Given the description of an element on the screen output the (x, y) to click on. 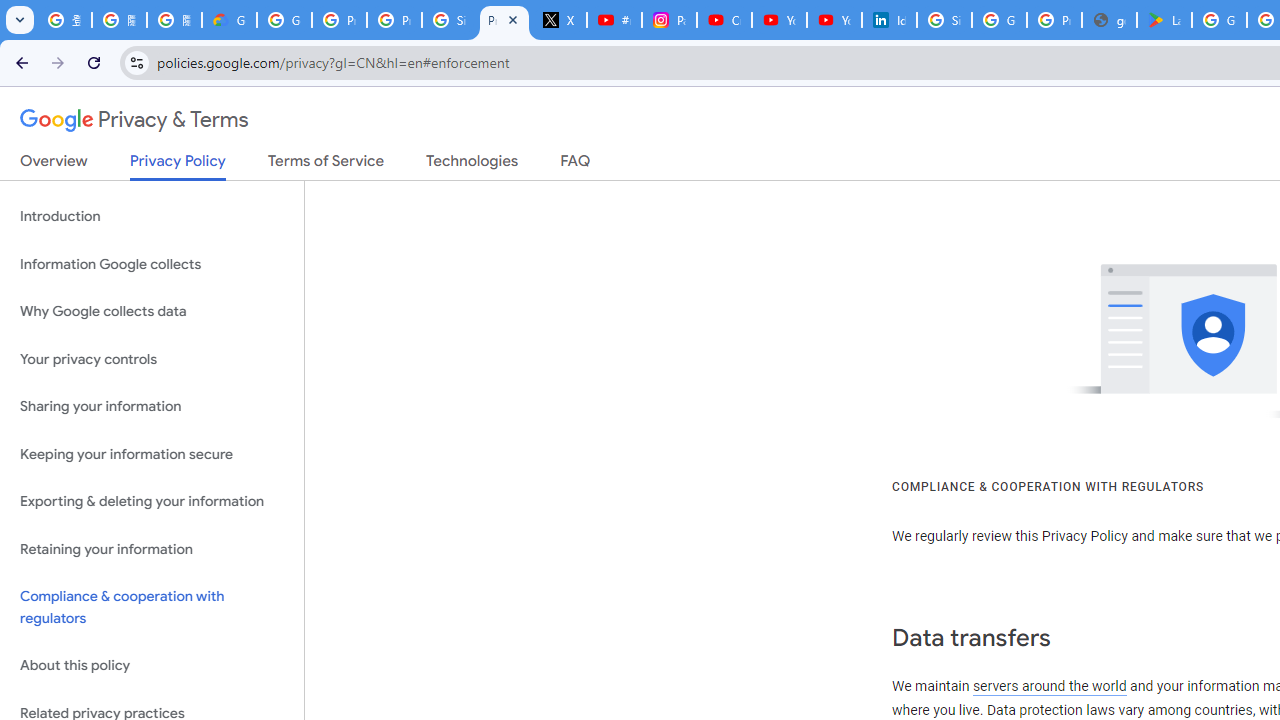
YouTube Culture & Trends - YouTube Top 10, 2021 (833, 20)
servers around the world (1048, 686)
Sign in - Google Accounts (943, 20)
